Given the description of an element on the screen output the (x, y) to click on. 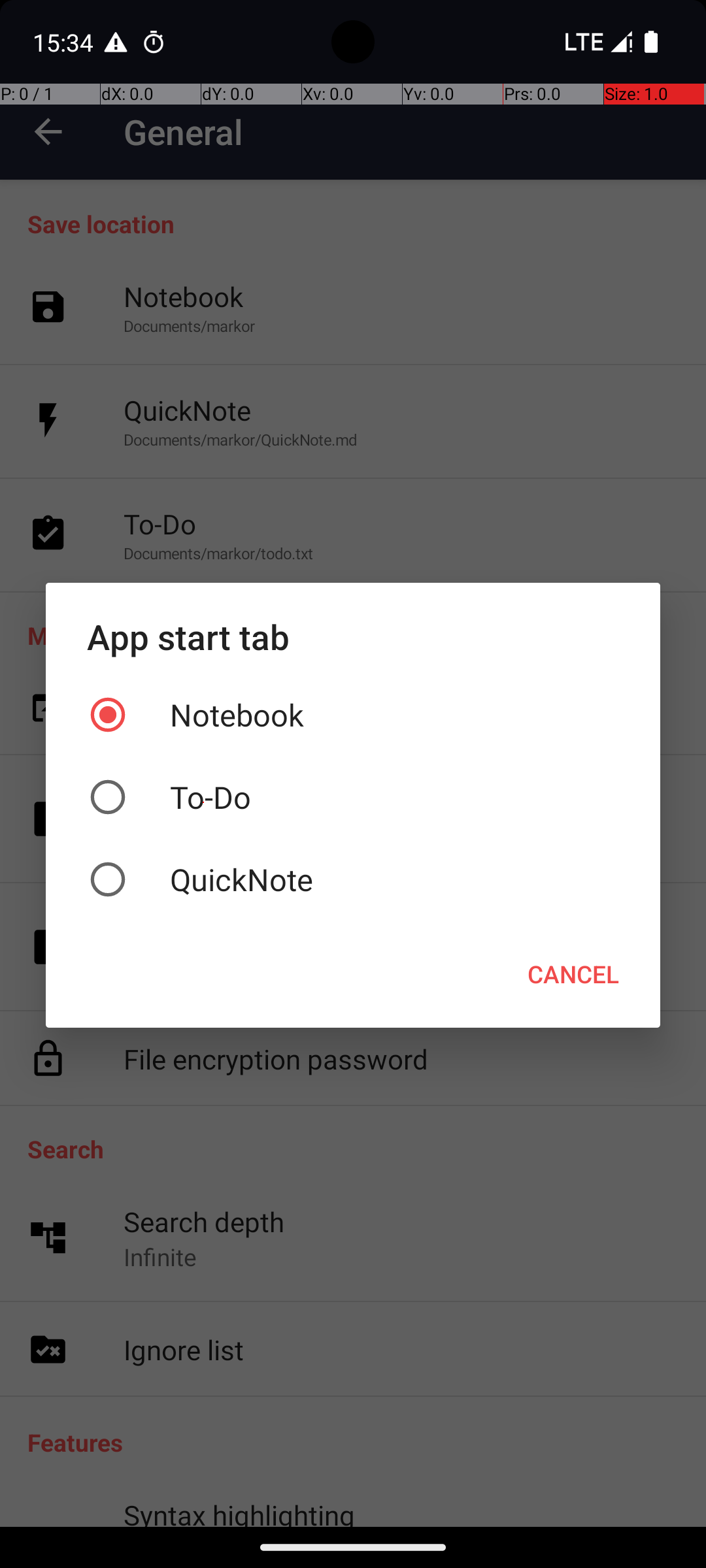
App start tab Element type: android.widget.TextView (352, 636)
Notebook Element type: android.widget.CheckedTextView (352, 714)
